Given the description of an element on the screen output the (x, y) to click on. 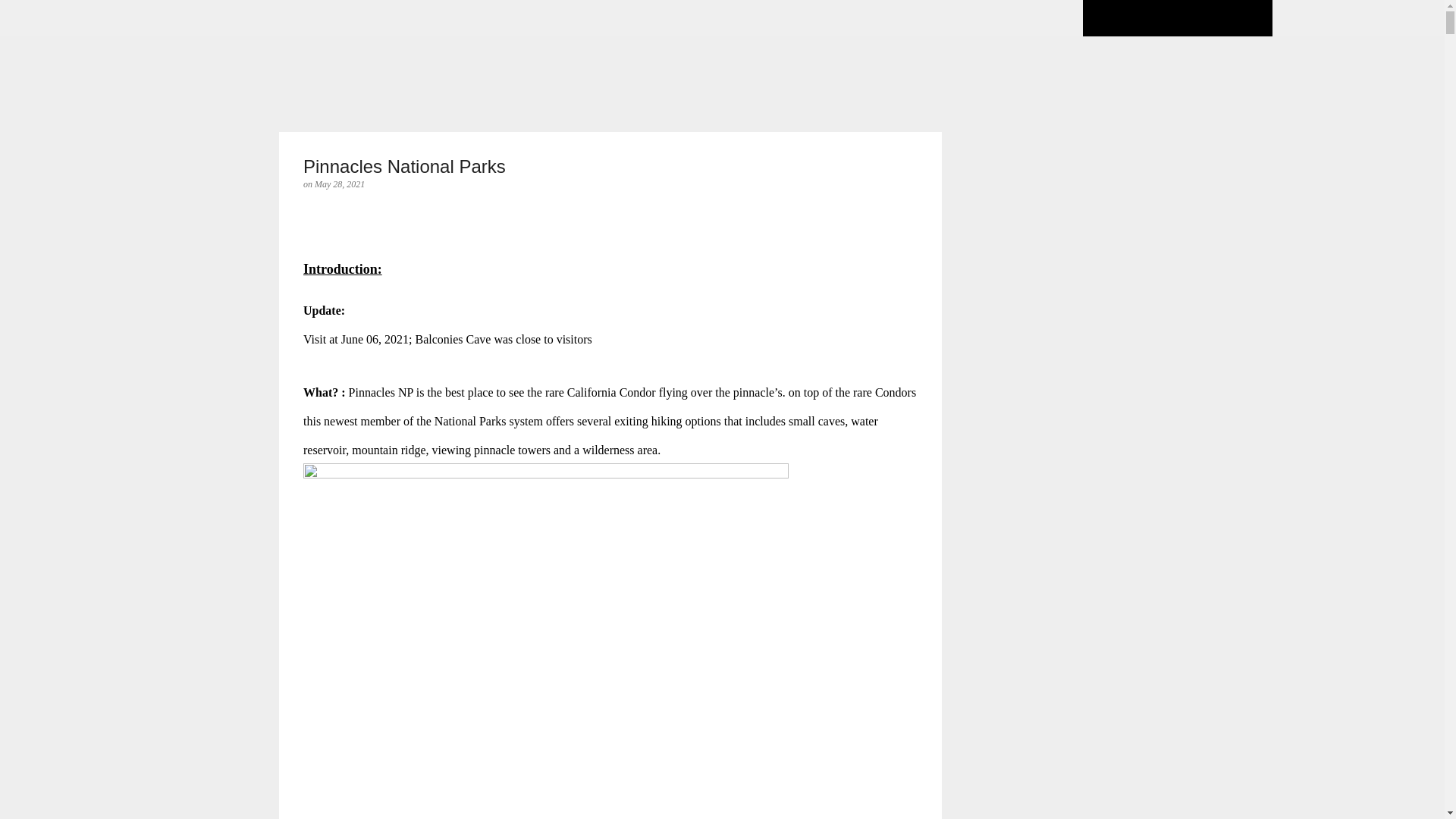
permanent link (339, 184)
May 28, 2021 (339, 184)
